Given the description of an element on the screen output the (x, y) to click on. 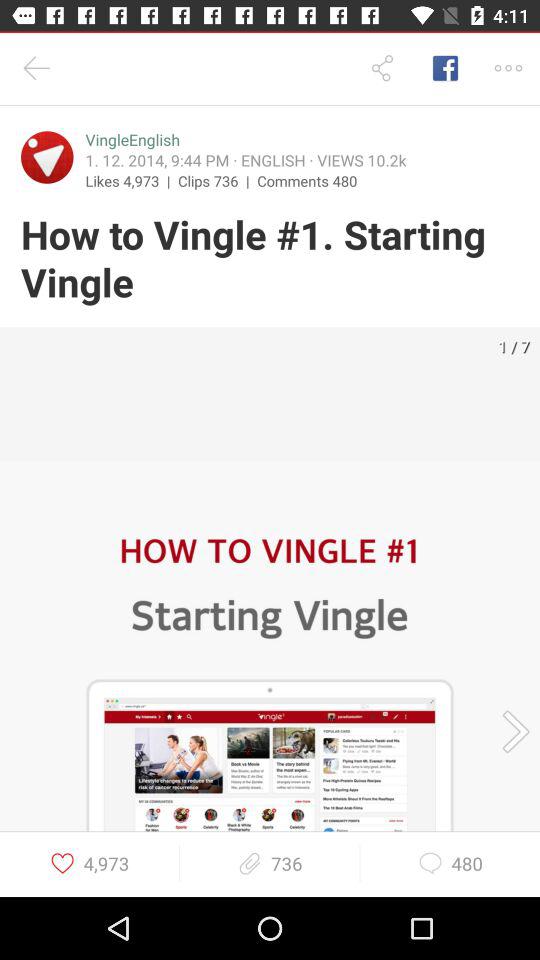
select the item above the 1 12 2014 item (132, 140)
